Given the description of an element on the screen output the (x, y) to click on. 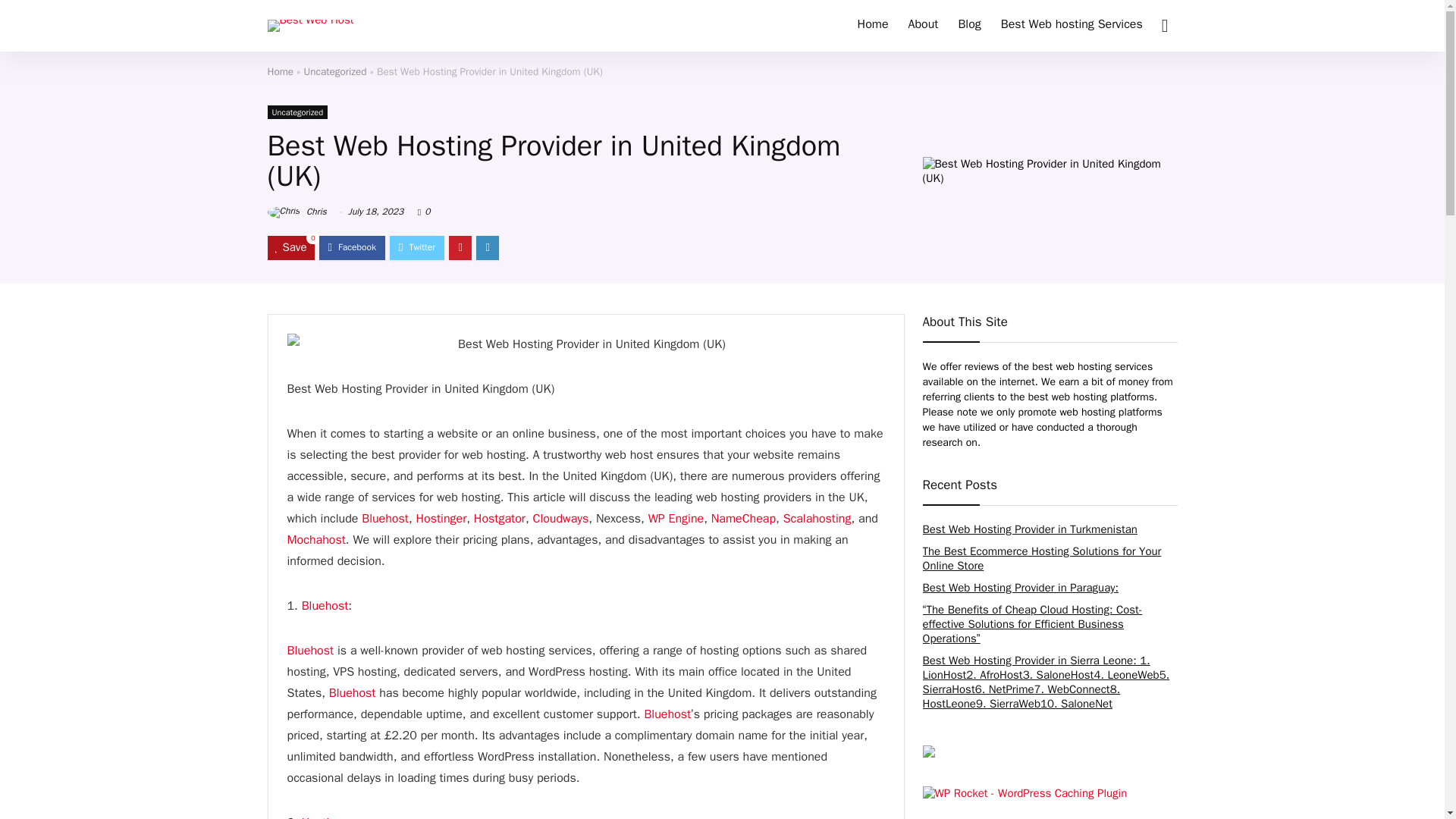
Uncategorized (335, 71)
Home (872, 25)
NameCheap (743, 518)
Scalahosting (817, 518)
Best Web hosting Services (1072, 25)
Bluehost (385, 518)
Bluehost (309, 650)
View all posts in Uncategorized (296, 111)
Chris (296, 211)
Mochahost (315, 539)
